Given the description of an element on the screen output the (x, y) to click on. 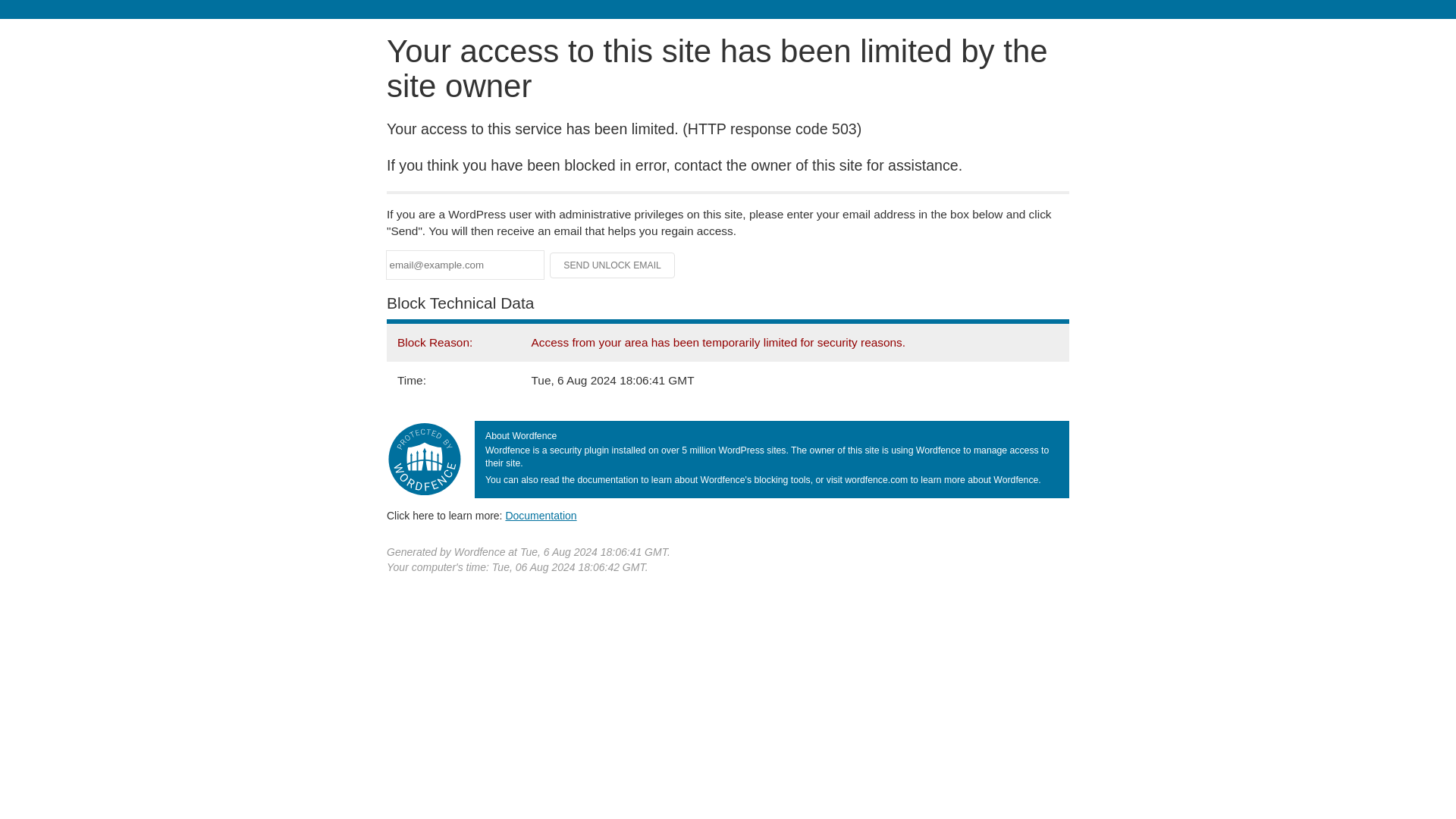
Send Unlock Email (612, 265)
Documentation (540, 515)
Send Unlock Email (612, 265)
